Given the description of an element on the screen output the (x, y) to click on. 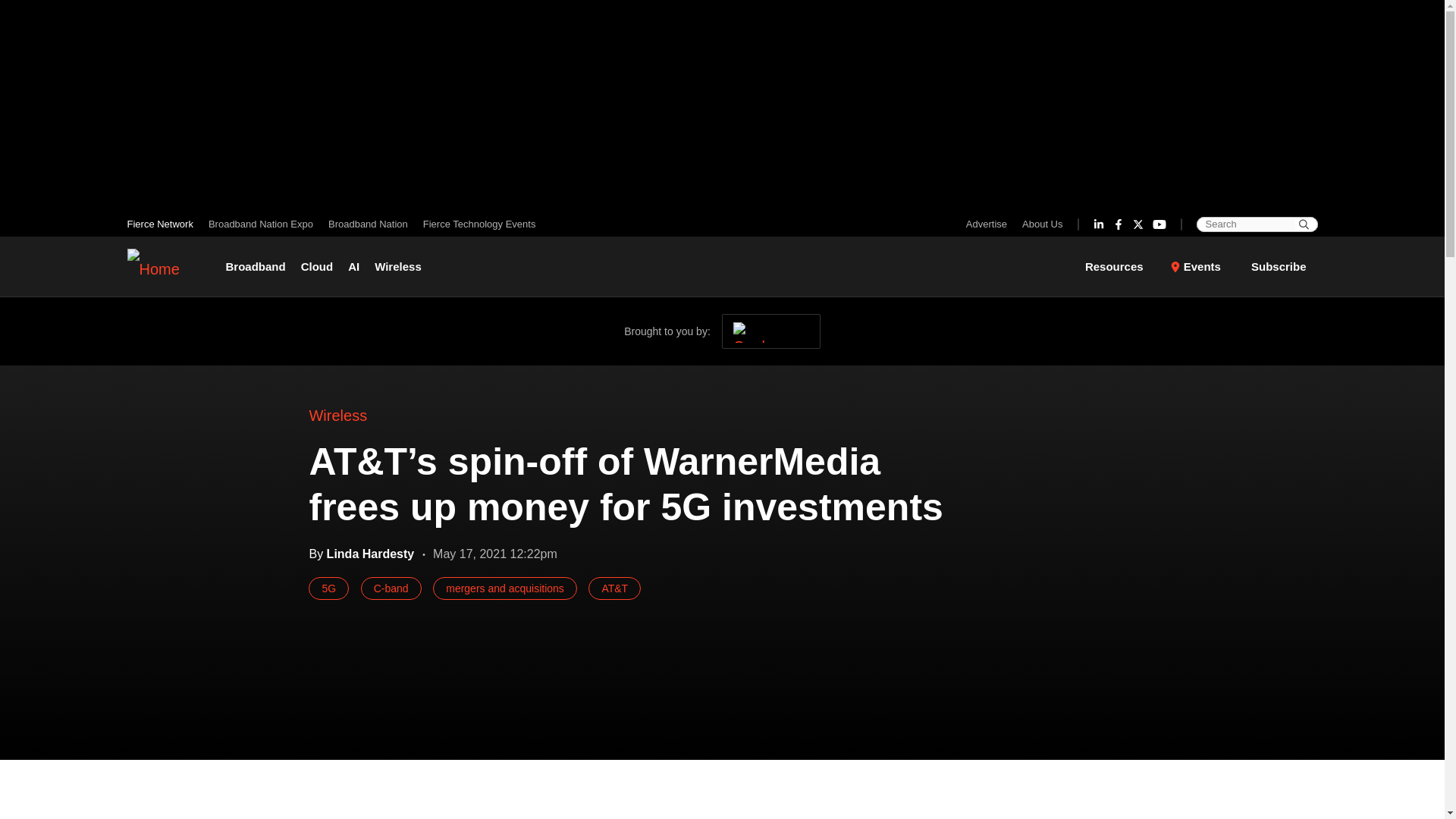
Cloud (317, 266)
Subscribe (1278, 265)
Broadband (259, 266)
Advertise (990, 224)
Fierce Network (164, 224)
About Us (1038, 224)
Resources (1122, 266)
Fierce Technology Events (474, 224)
AI (353, 266)
Broadband Nation Expo (260, 224)
Broadband Nation (367, 224)
Wireless (397, 266)
